Given the description of an element on the screen output the (x, y) to click on. 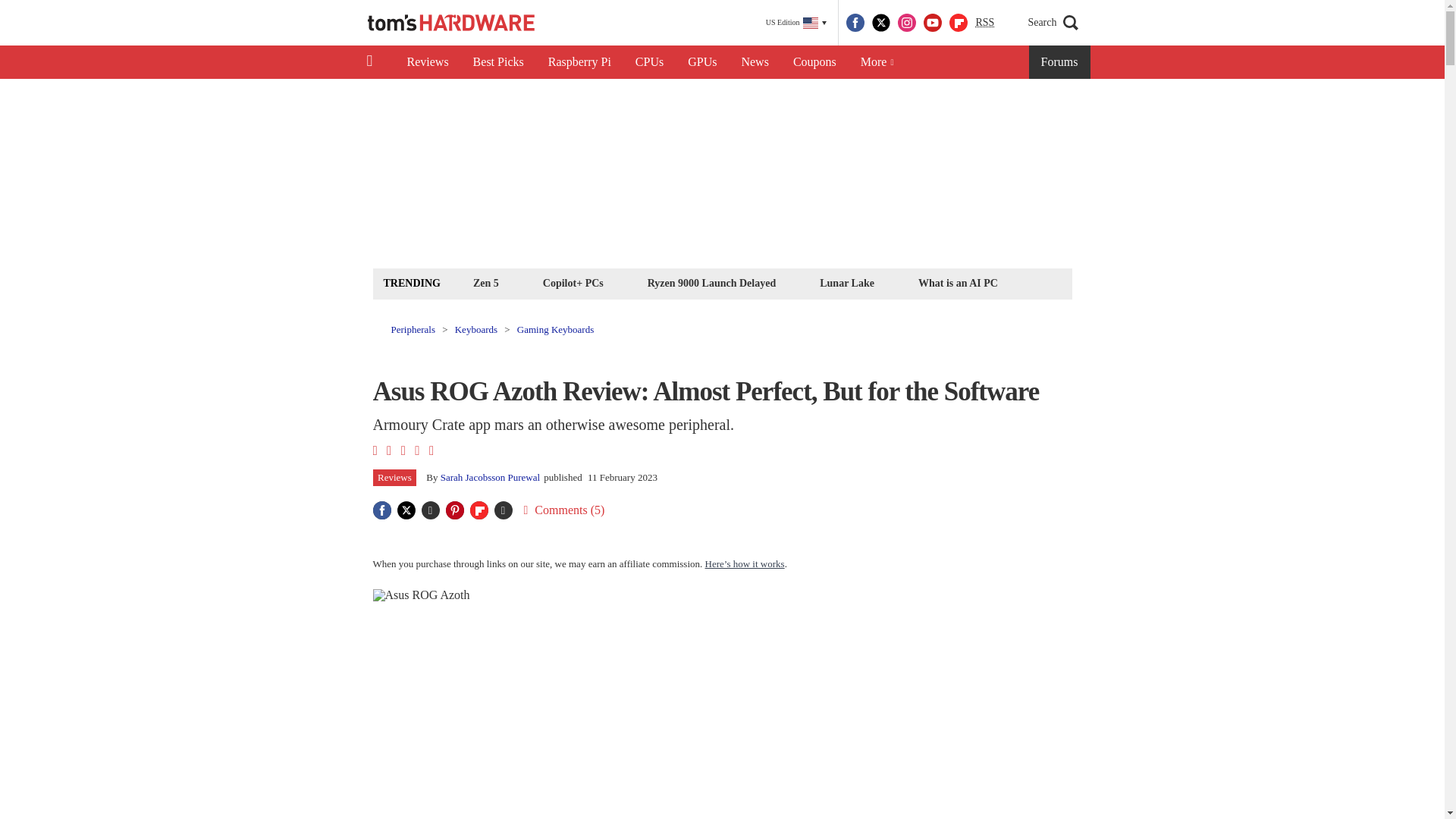
News (754, 61)
CPUs (649, 61)
Coupons (814, 61)
US Edition (796, 22)
Forums (1059, 61)
Raspberry Pi (579, 61)
Reviews (427, 61)
Really Simple Syndication (984, 21)
GPUs (702, 61)
Best Picks (498, 61)
Zen 5 (485, 282)
RSS (984, 22)
